Given the description of an element on the screen output the (x, y) to click on. 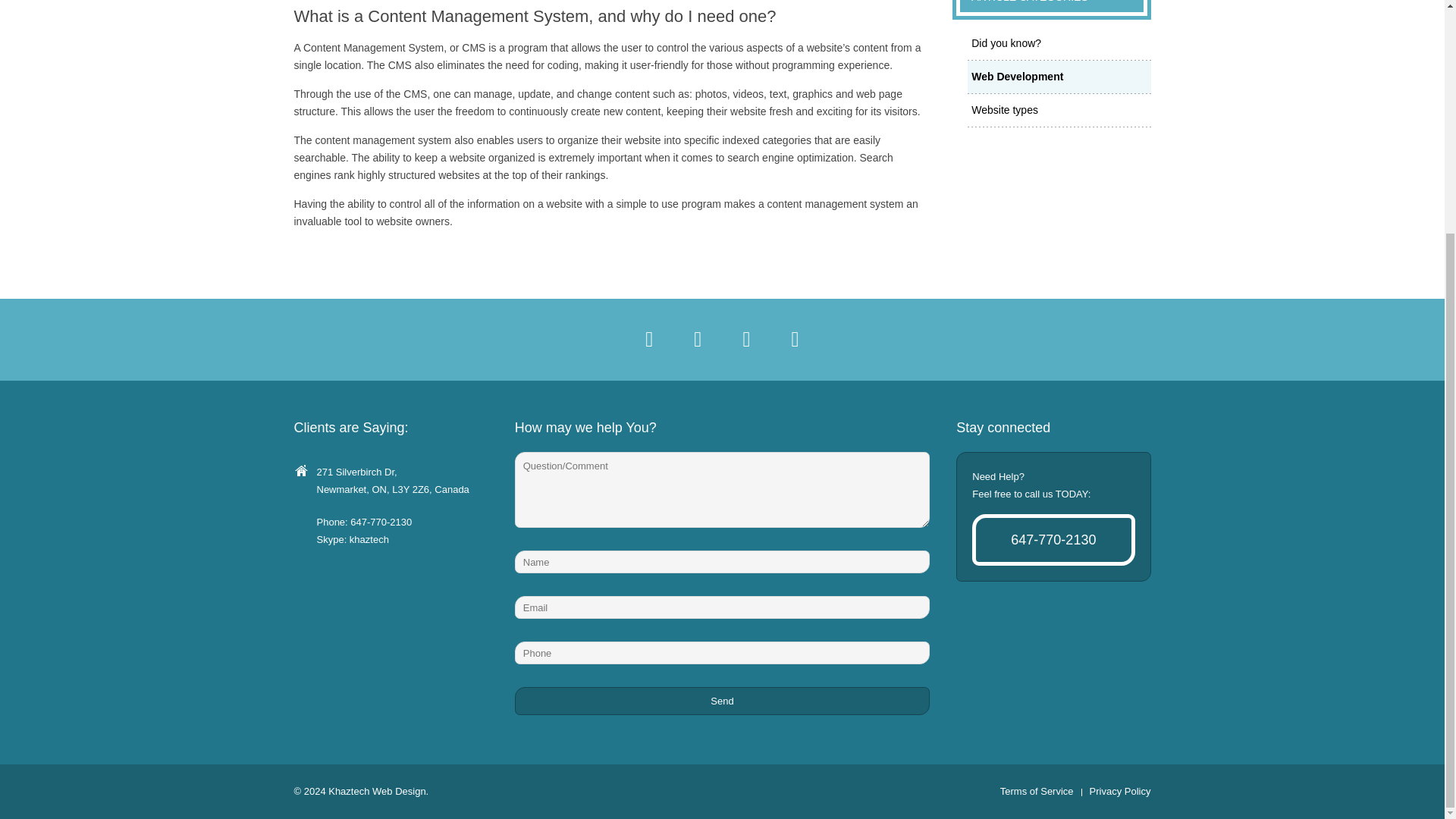
647-770-2130 (381, 521)
Need Help? Feel free to call us (1053, 539)
Web Development (1058, 76)
Website types (1058, 109)
khaztech (368, 539)
Phone (381, 521)
Did you know? (1058, 43)
Did you know? (1058, 41)
Skype (368, 539)
Web Development (1058, 75)
